Given the description of an element on the screen output the (x, y) to click on. 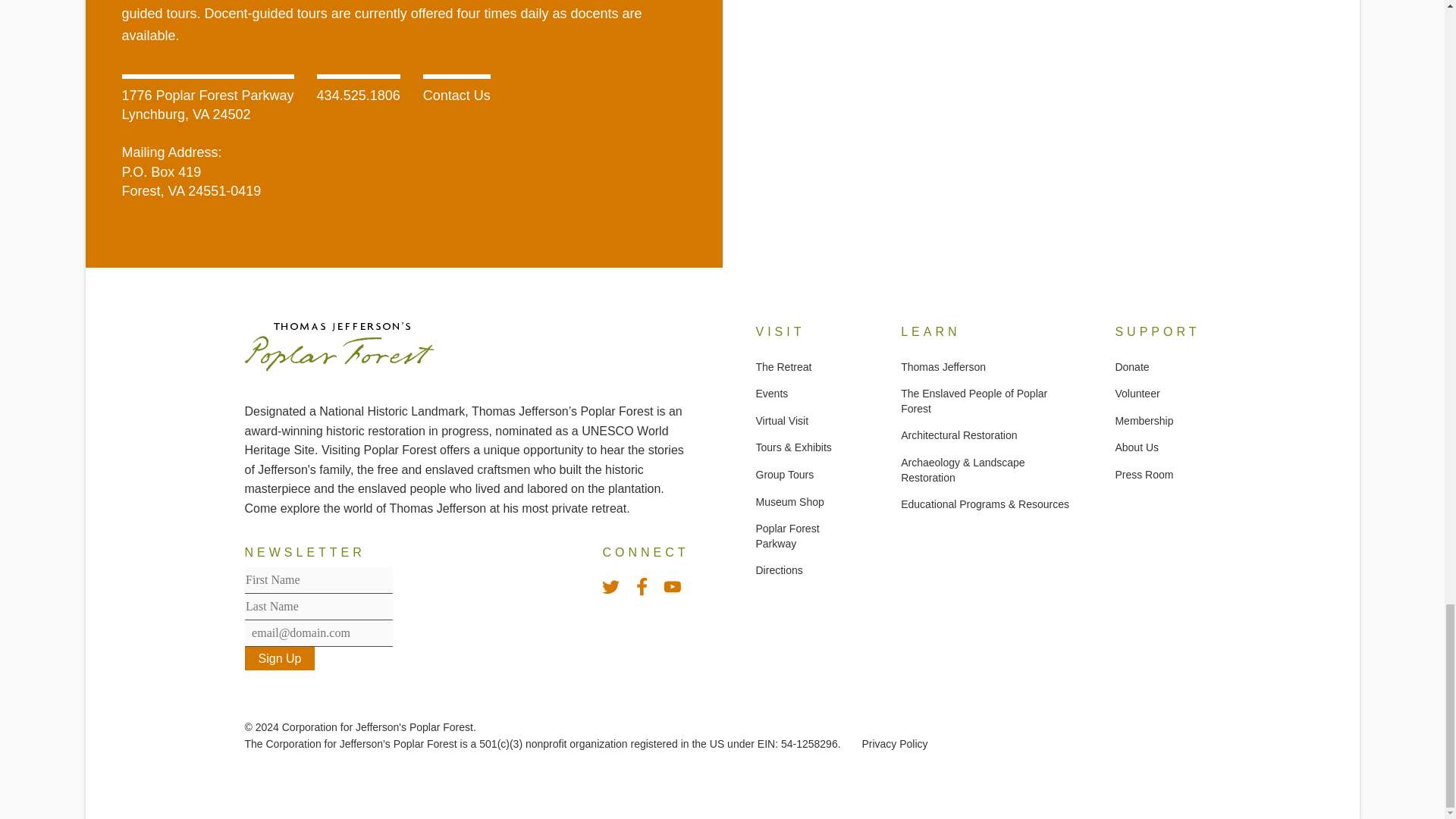
Directions (778, 570)
VISIT (805, 332)
434.525.1806 (358, 95)
Virtual Visit (781, 420)
Sign Up (279, 658)
Events (771, 393)
Poplar Forest Parkway (786, 535)
Sign Up (279, 658)
Group Tours (784, 474)
Museum Shop (789, 501)
The Retreat (782, 367)
Contact Us (456, 95)
LEARN (984, 332)
